Given the description of an element on the screen output the (x, y) to click on. 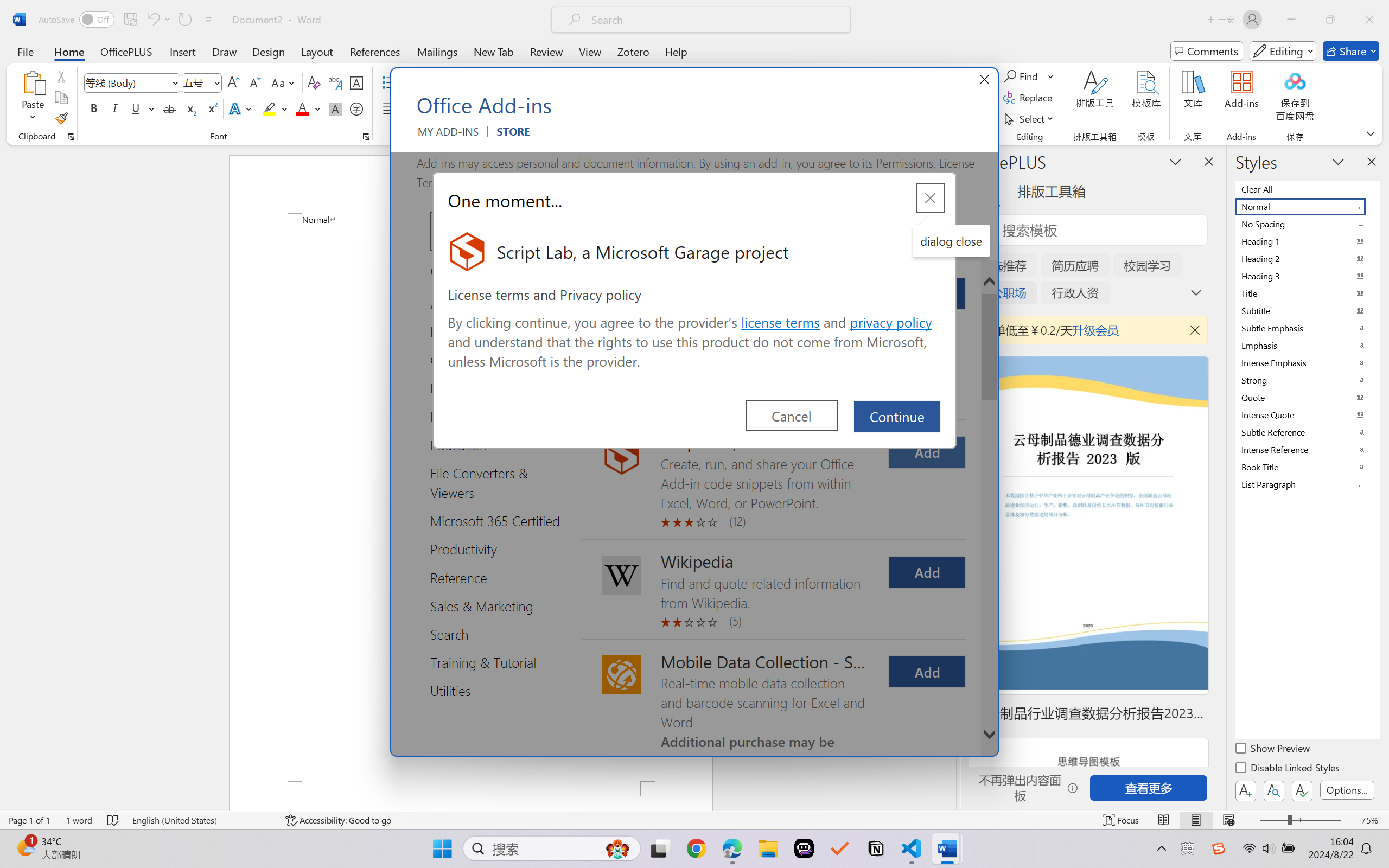
Strong (1306, 379)
Save (130, 19)
Font Color (308, 108)
Normal (1306, 206)
Heading 1 (1306, 240)
Text Highlight Color Yellow (269, 108)
Poe (804, 848)
Character Shading (334, 108)
Restore Down (1330, 19)
Print Layout (1196, 819)
Class: NetUIImage (1299, 484)
Intense Quote (1306, 414)
